Given the description of an element on the screen output the (x, y) to click on. 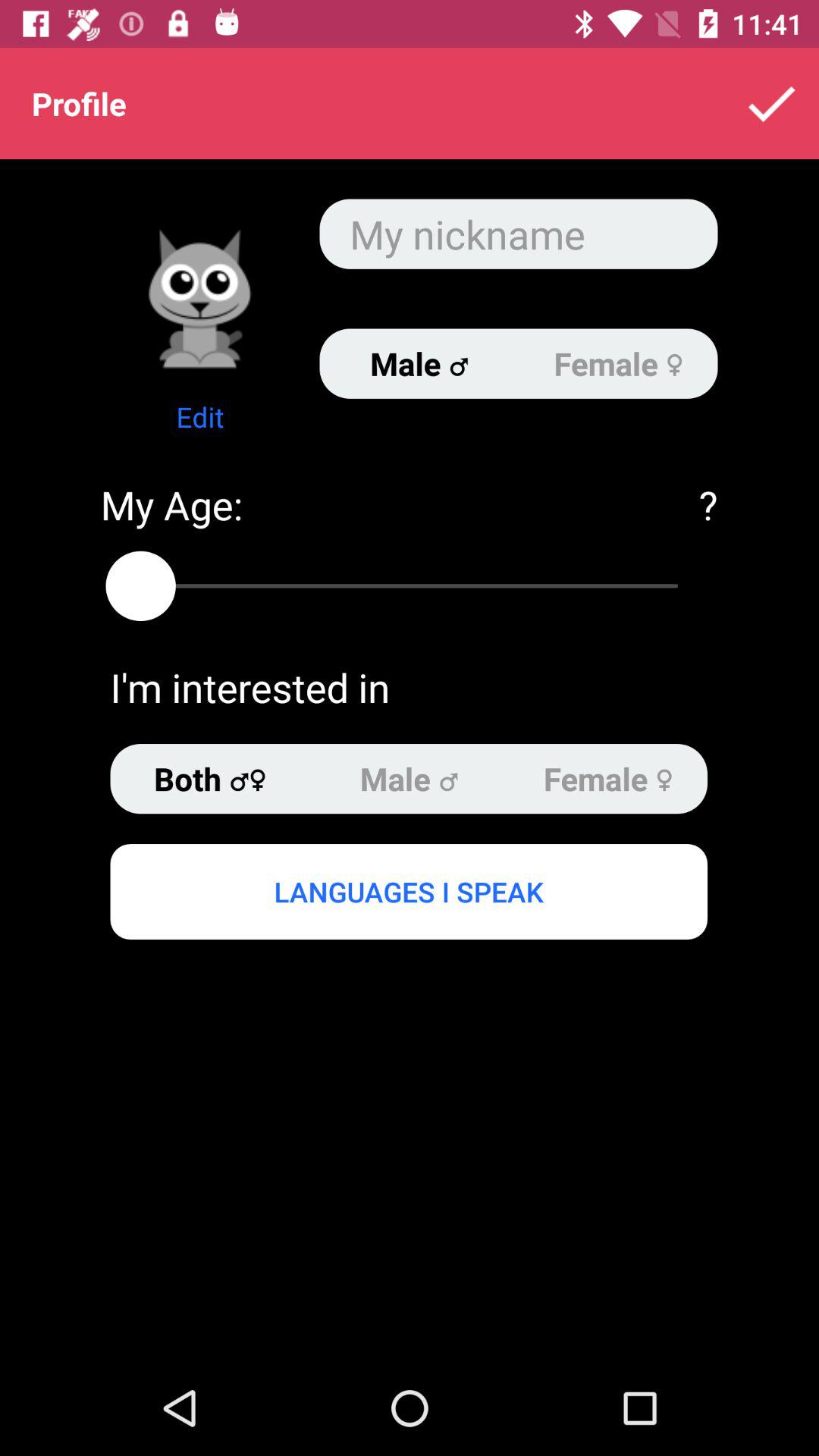
turn off the item next to profile app (771, 103)
